Given the description of an element on the screen output the (x, y) to click on. 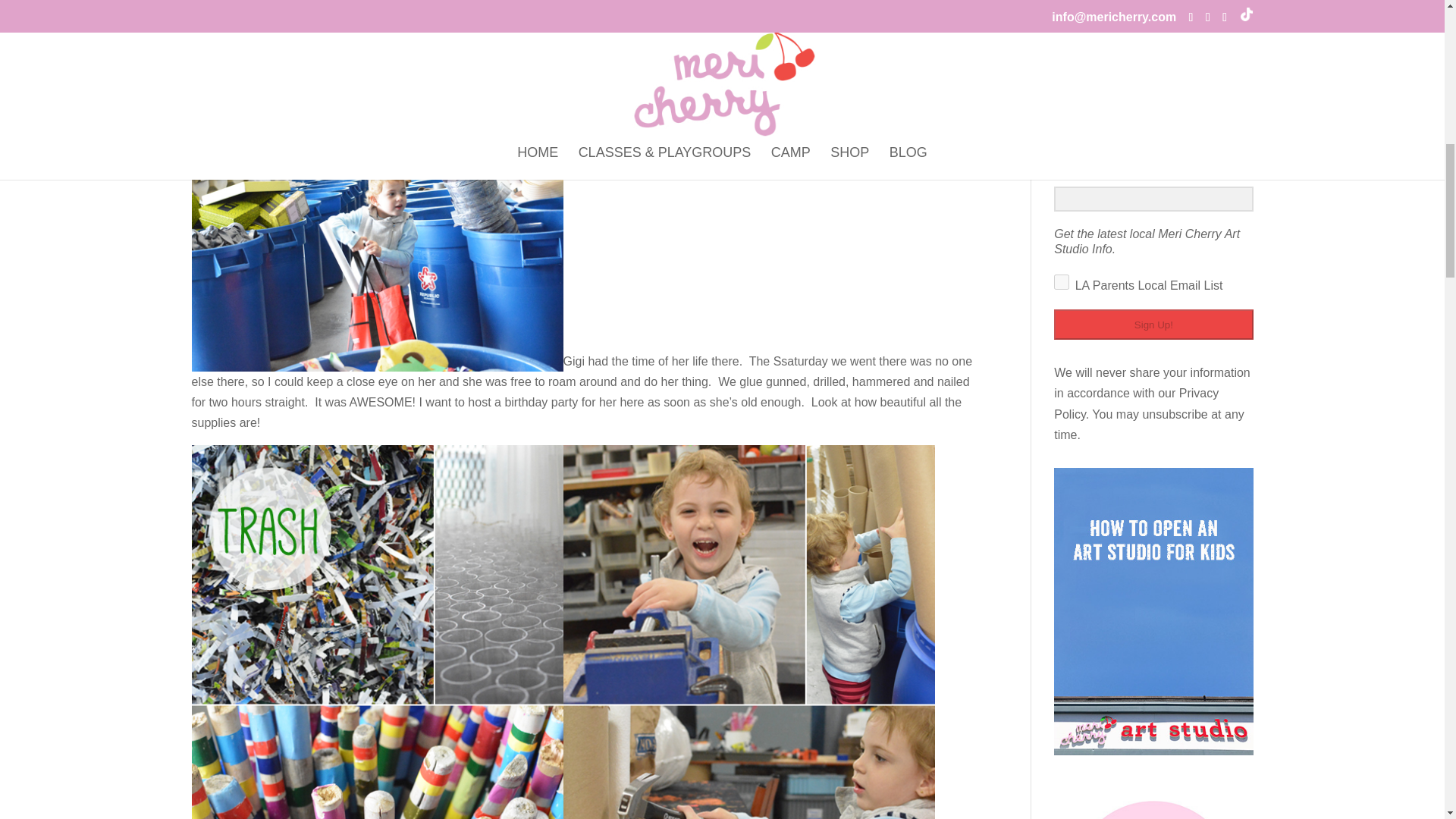
Sign Up! (1153, 324)
683bb163c6 (1061, 281)
open studio (651, 24)
Privacy Policy (1136, 403)
